Given the description of an element on the screen output the (x, y) to click on. 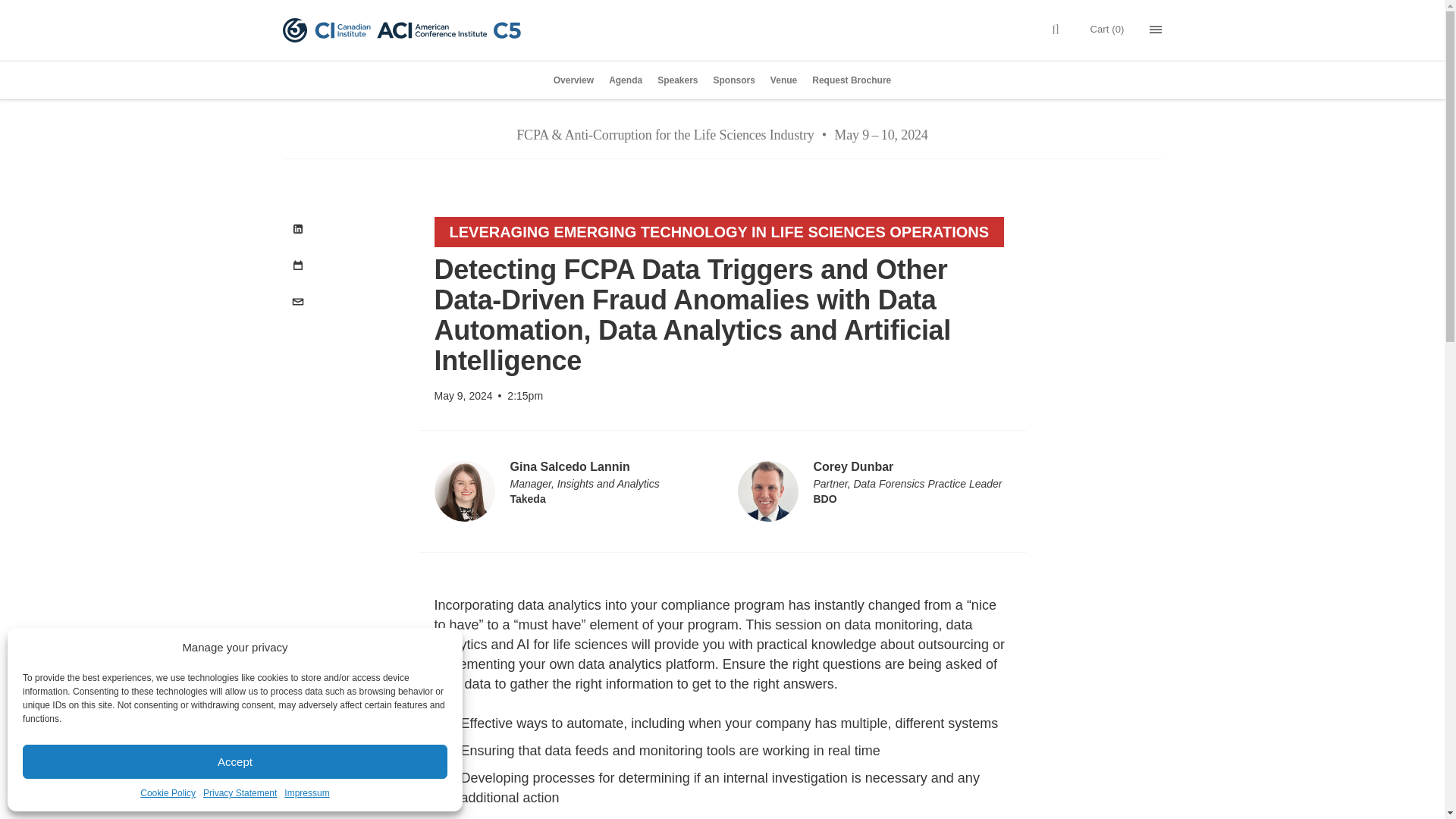
Toggle navigation (1155, 29)
Accept (234, 761)
Privacy Statement (239, 793)
Impressum (306, 793)
Cookie Policy (167, 793)
